Given the description of an element on the screen output the (x, y) to click on. 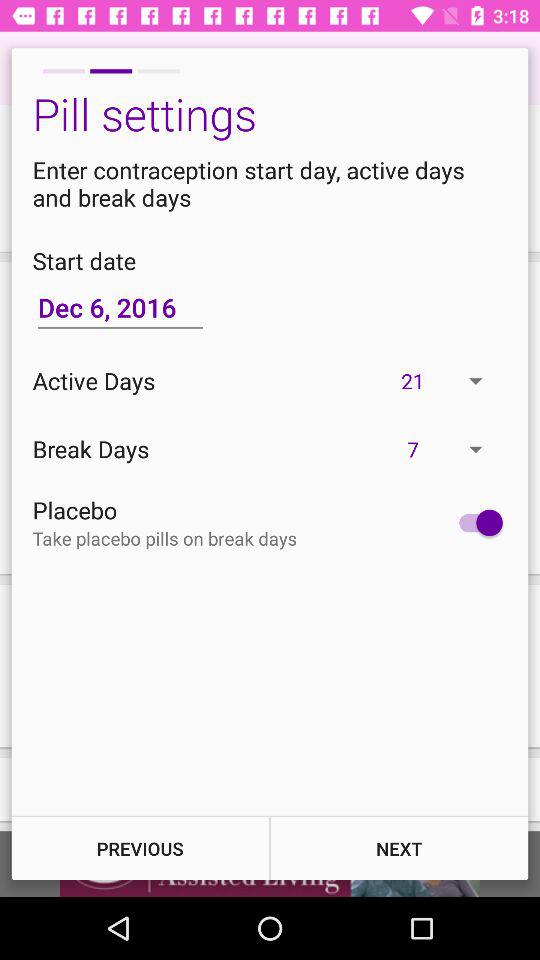
placebo option (476, 522)
